Given the description of an element on the screen output the (x, y) to click on. 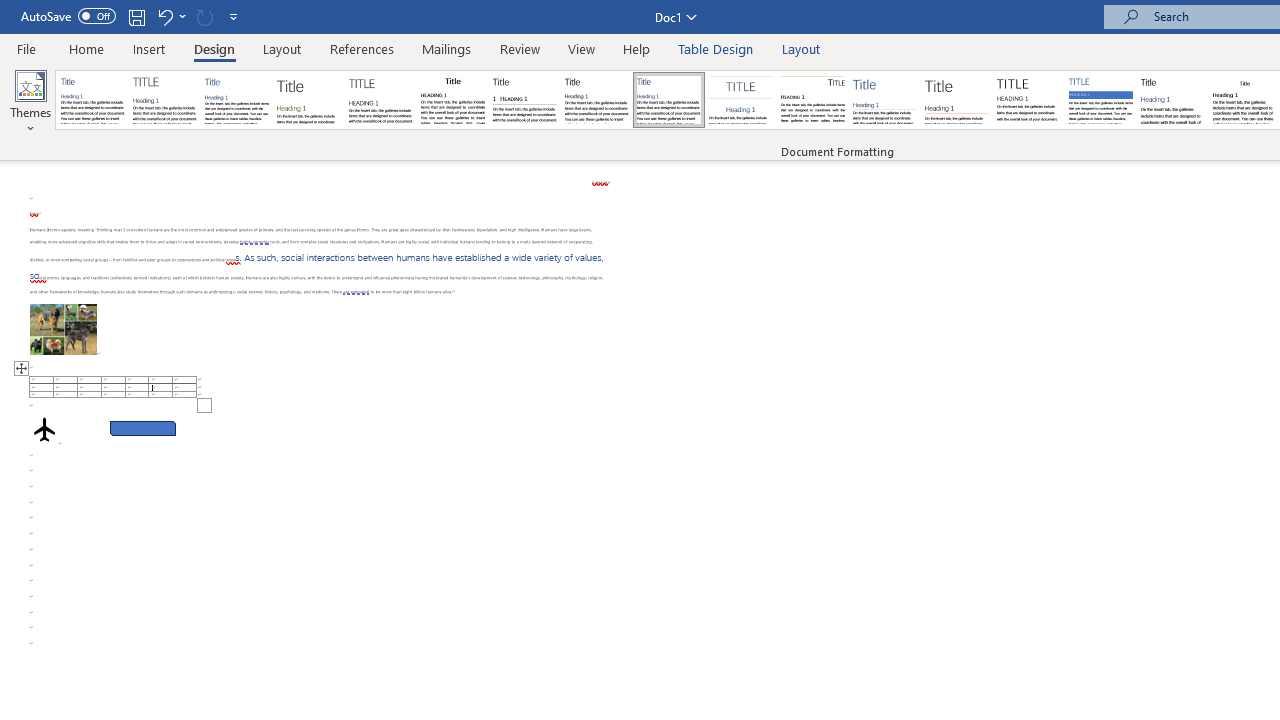
Word (1172, 100)
Lines (Stylish) (957, 100)
Black & White (Classic) (452, 100)
Lines (Distinctive) (812, 100)
Basic (Simple) (236, 100)
